Given the description of an element on the screen output the (x, y) to click on. 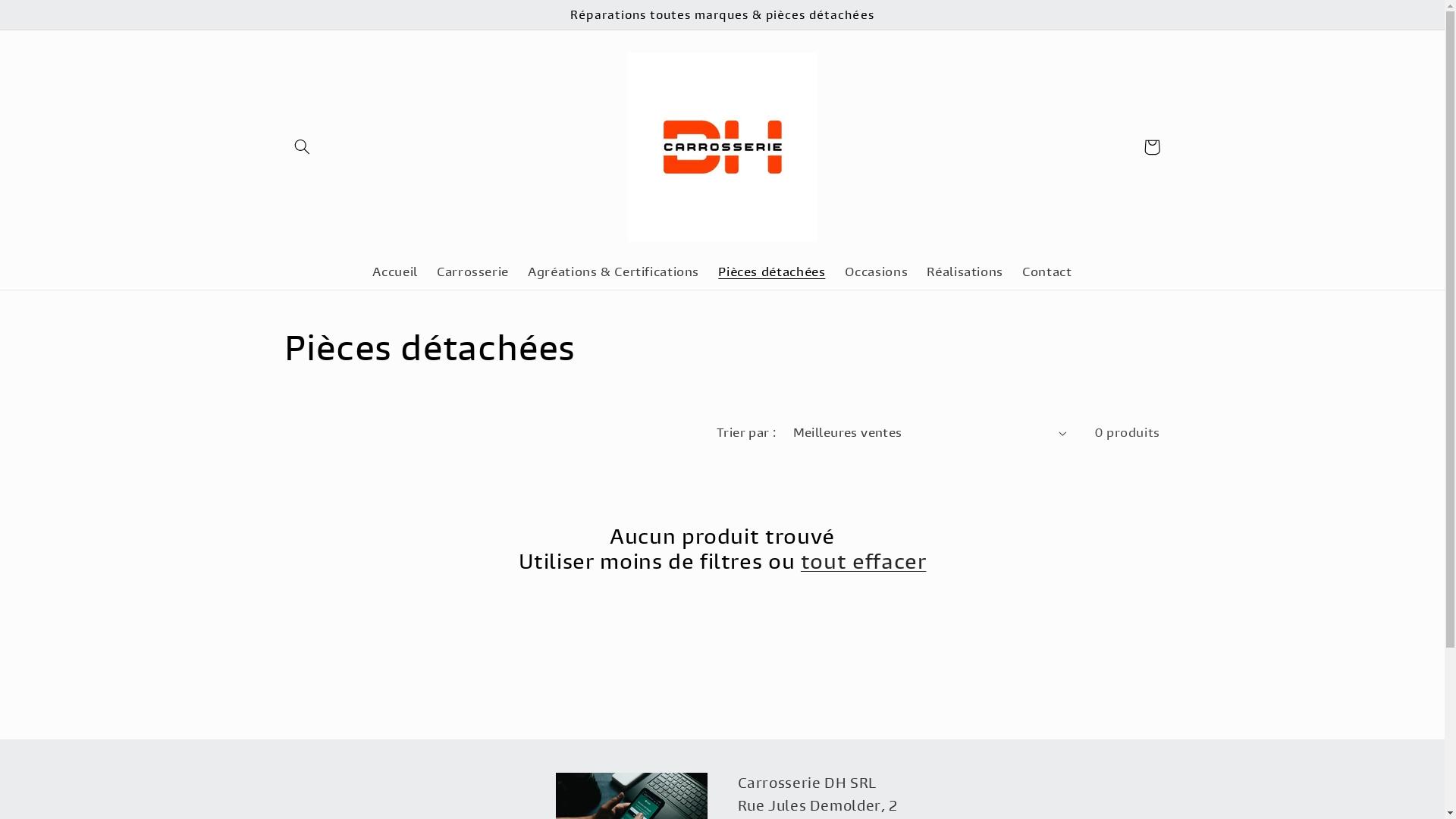
Accueil Element type: text (395, 272)
Occasions Element type: text (875, 272)
tout effacer Element type: text (863, 561)
Carrosserie Element type: text (471, 272)
Panier Element type: text (1151, 146)
Contact Element type: text (1047, 272)
